Given the description of an element on the screen output the (x, y) to click on. 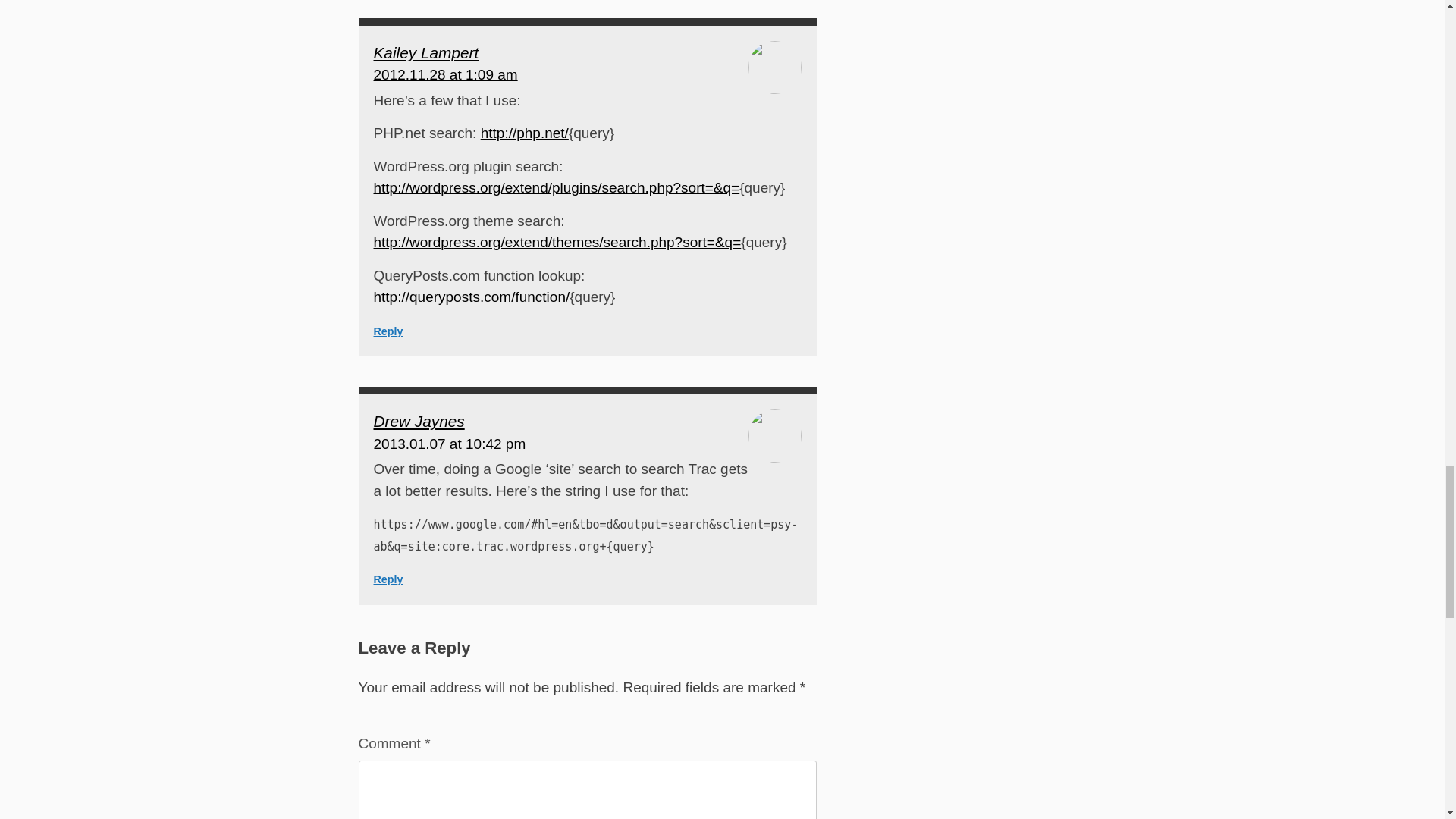
Reply (387, 579)
Drew Jaynes (418, 420)
2013.01.07 at 10:42 pm (448, 443)
2012.11.28 at 1:09 am (444, 74)
Reply (387, 331)
Kailey Lampert (425, 52)
